Given the description of an element on the screen output the (x, y) to click on. 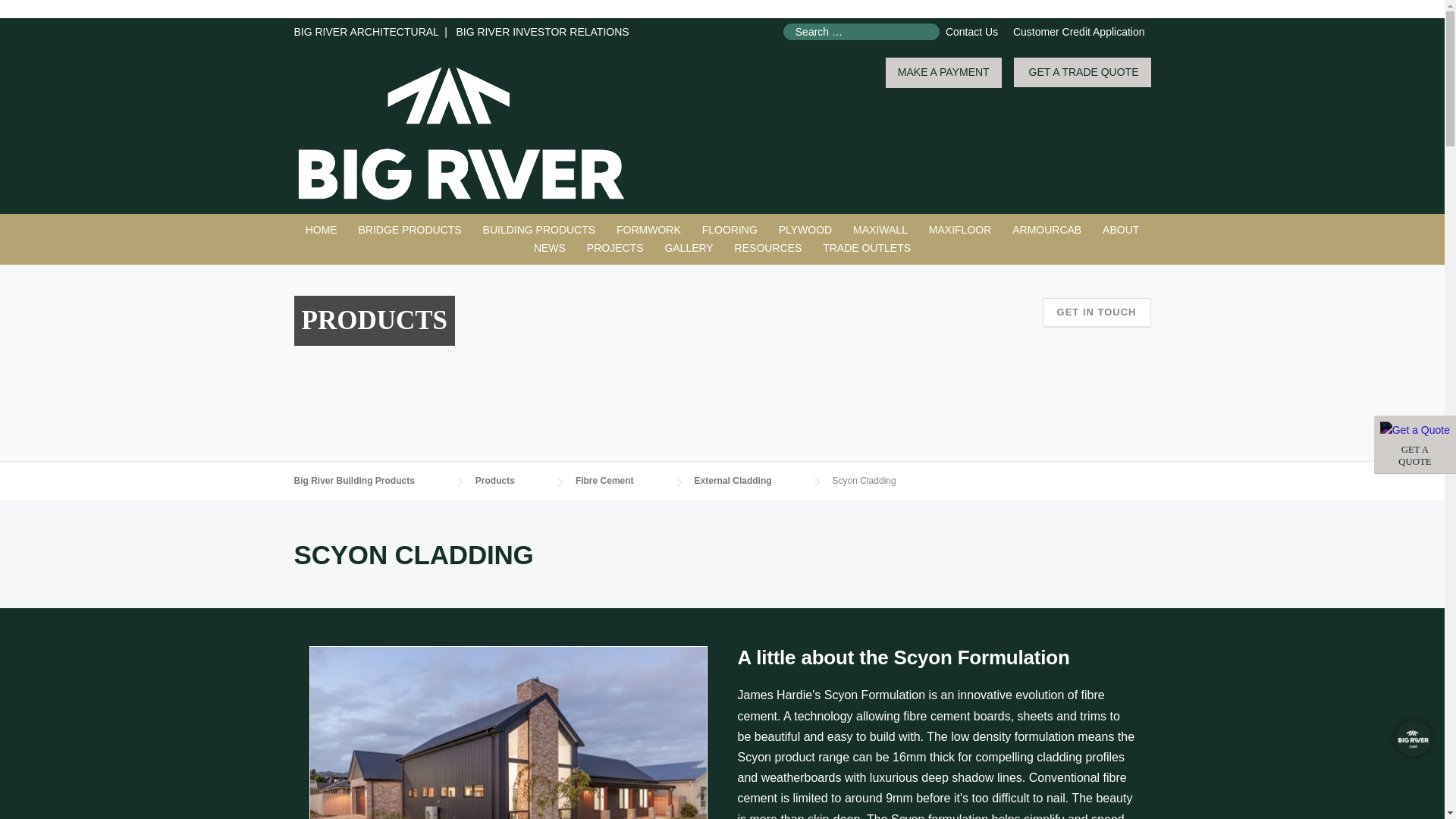
BUILDING PRODUCTS (539, 230)
Projects (615, 248)
GET A TRADE QUOTE (1082, 72)
MAKE A PAYMENT (943, 72)
Search (40, 13)
Big River Building Products (461, 132)
About Us (1120, 230)
Go to Big River Building Products. (369, 480)
Customer Credit Application (1078, 31)
BIG RIVER ARCHITECTURAL (1415, 444)
BIG RIVER INVESTOR RELATIONS (366, 31)
Go to the Fibre Cement Category archives. (541, 31)
Go to Products. (619, 480)
Products (510, 480)
